Given the description of an element on the screen output the (x, y) to click on. 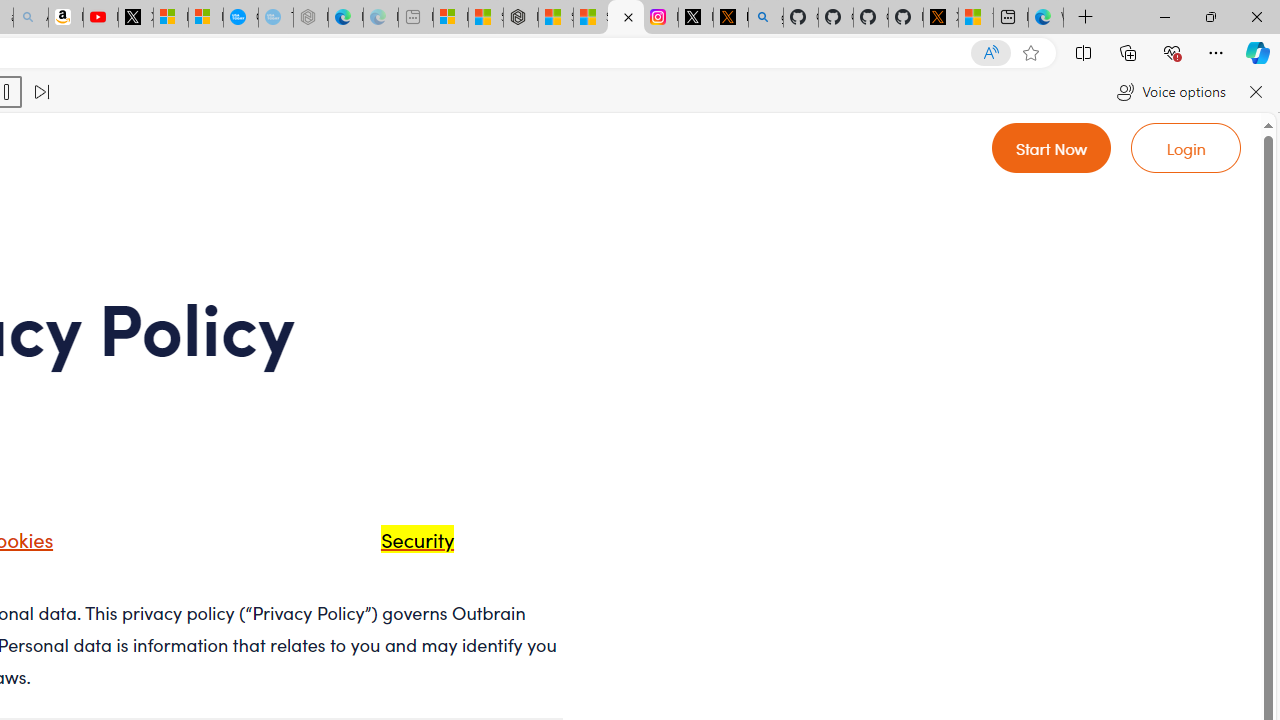
Security (392, 546)
Microsoft account | Microsoft Account Privacy Settings (450, 17)
Shanghai, China Weather trends | Microsoft Weather (590, 17)
help.x.com | 524: A timeout occurred (730, 17)
Voice options (1170, 92)
Opinion: Op-Ed and Commentary - USA TODAY (241, 17)
Welcome to Microsoft Edge (1046, 17)
Go to login (1186, 147)
Read next paragraph (40, 92)
